Given the description of an element on the screen output the (x, y) to click on. 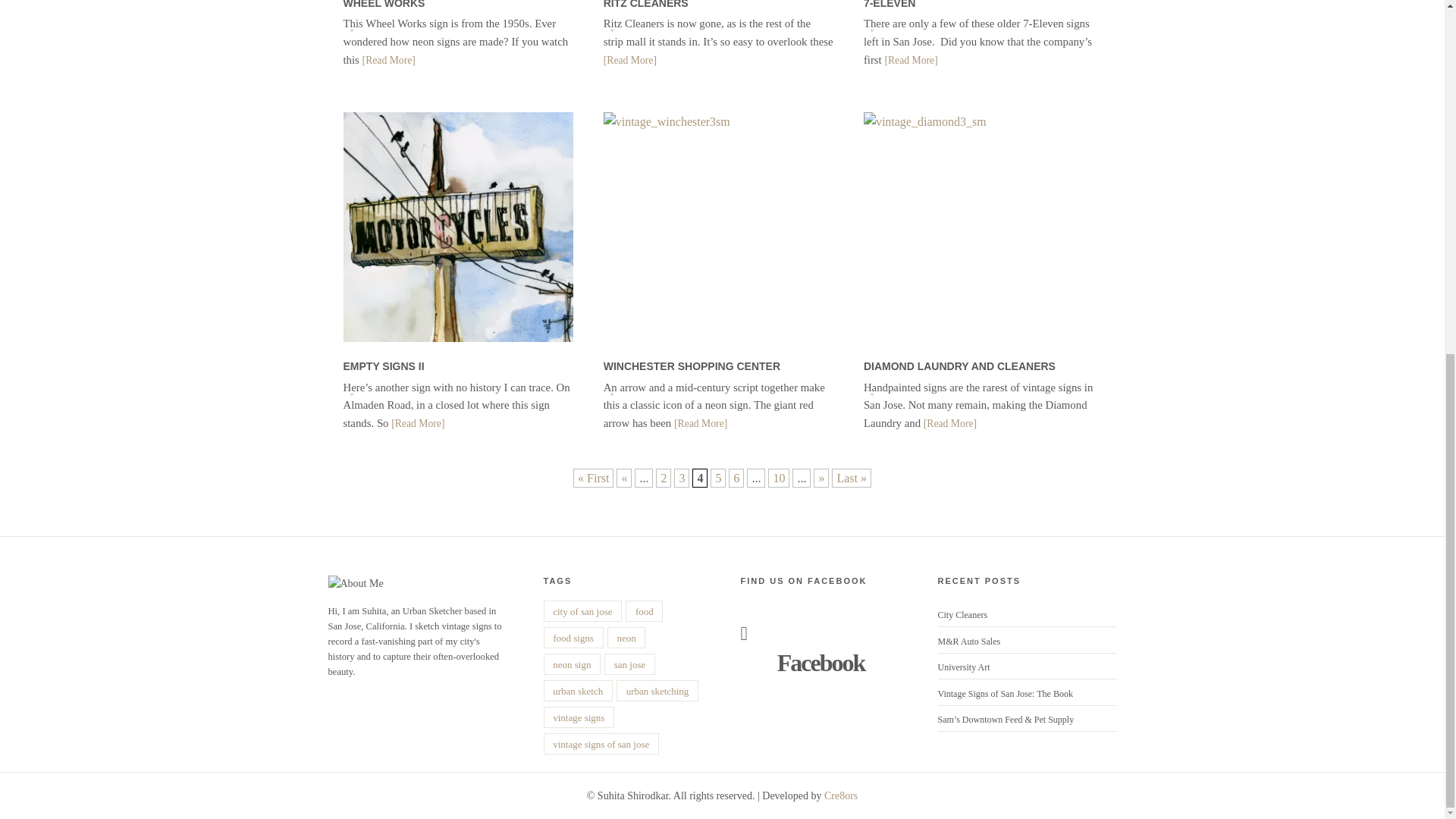
36 topics (571, 663)
DIAMOND LAUNDRY AND CLEANERS (959, 366)
RITZ CLEANERS (646, 4)
7-ELEVEN (889, 4)
61 topics (656, 690)
Email Address (1358, 375)
WHEEL WORKS (383, 4)
21 topics (572, 637)
WINCHESTER SHOPPING CENTER (692, 366)
Sign up! (1336, 399)
67 topics (578, 717)
30 topics (626, 637)
59 topics (582, 610)
76 topics (629, 663)
EMPTY SIGNS II (382, 366)
